Given the description of an element on the screen output the (x, y) to click on. 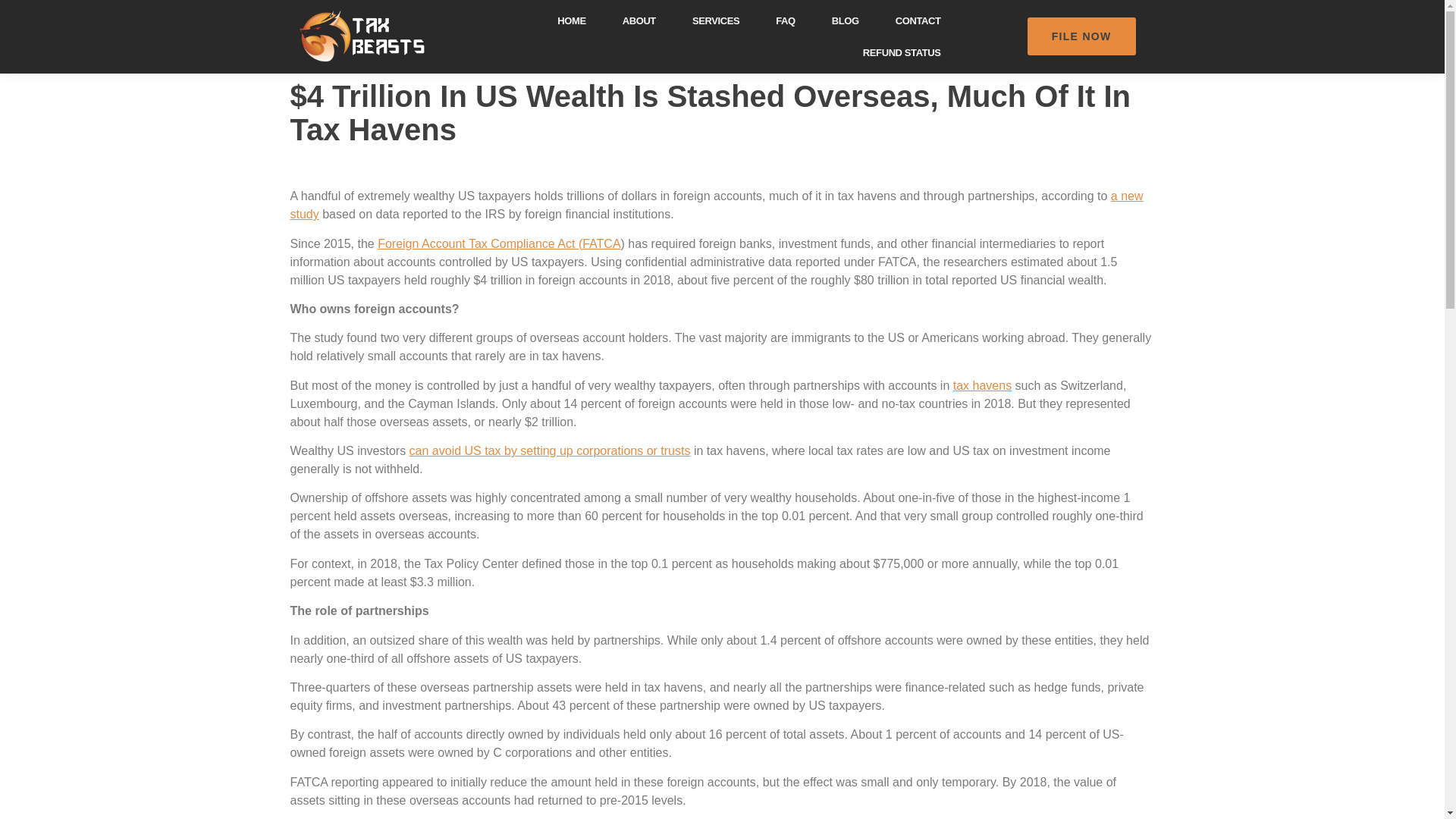
HOME (571, 20)
ABOUT (639, 20)
REFUND STATUS (901, 51)
CONTACT (918, 20)
FILE NOW (1081, 36)
SERVICES (715, 20)
a new study (715, 204)
tax havens (982, 385)
can avoid US tax by setting up corporations or trusts (549, 450)
FAQ (785, 20)
BLOG (845, 20)
